Given the description of an element on the screen output the (x, y) to click on. 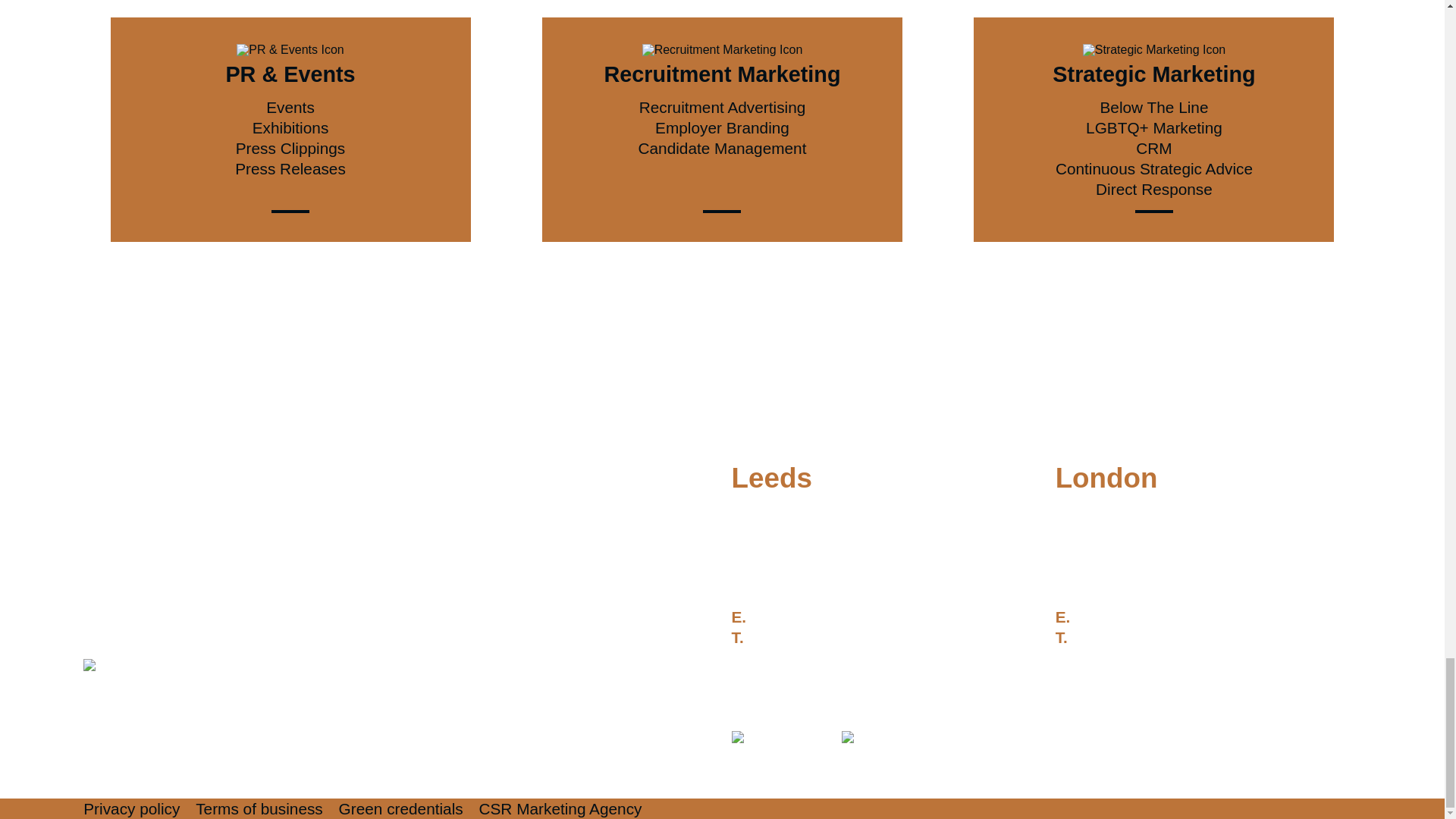
Exhibitions (290, 127)
About (213, 475)
Skills (160, 475)
Home (103, 475)
Clients (274, 475)
Recruitment Marketing (722, 84)
Strategic Marketing (1153, 84)
